Given the description of an element on the screen output the (x, y) to click on. 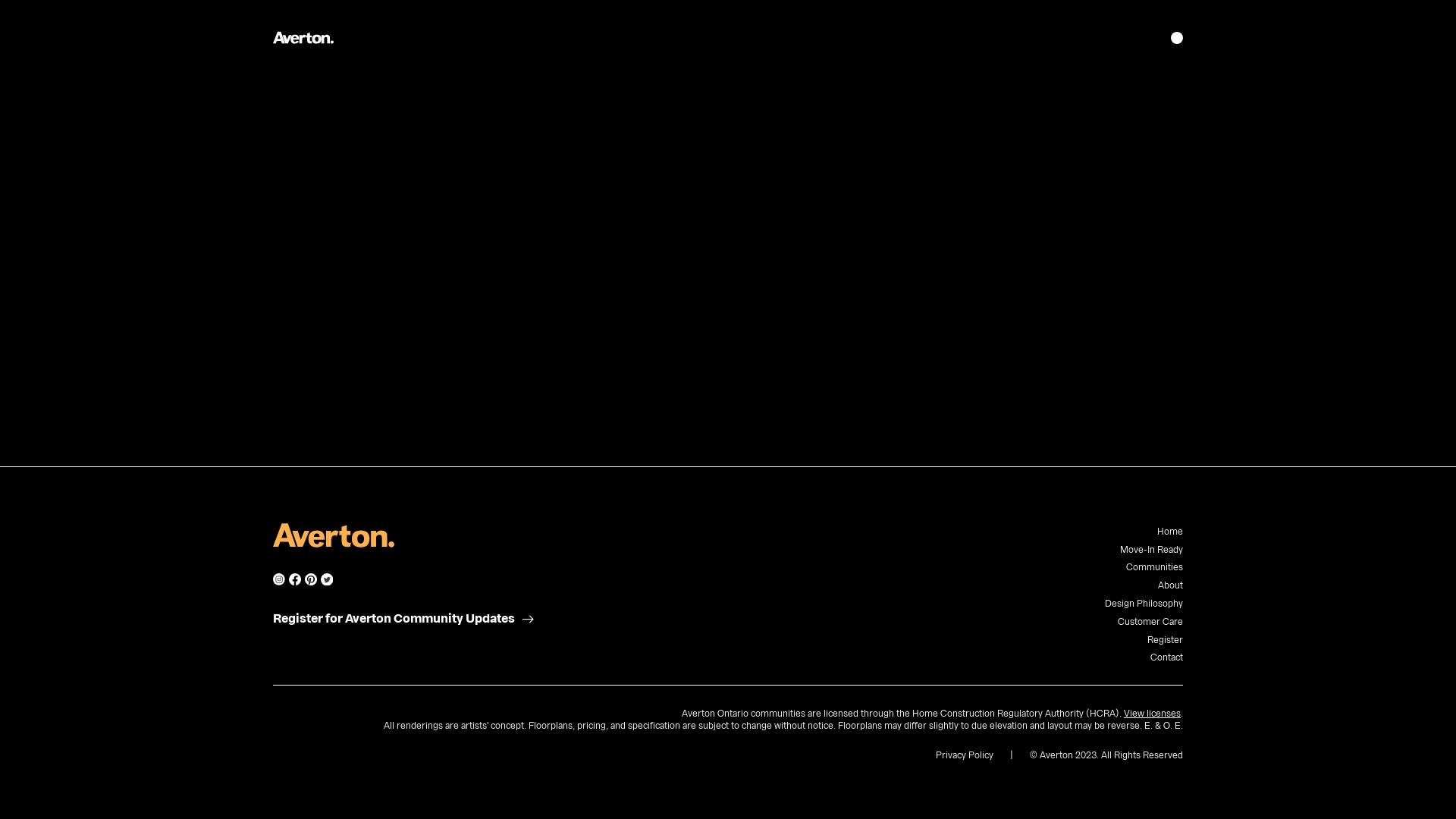
Register Element type: text (1165, 639)
Privacy Policy Element type: text (964, 754)
Register for Averton Community Updates Element type: text (393, 619)
Customer Care Element type: text (1150, 621)
Design Philosophy Element type: text (1143, 603)
View licenses Element type: text (1151, 713)
About Element type: text (1170, 584)
Home Element type: text (1170, 531)
Move-In Ready Element type: text (1151, 549)
Communities Element type: text (1154, 566)
Contact Element type: text (1166, 657)
